Given the description of an element on the screen output the (x, y) to click on. 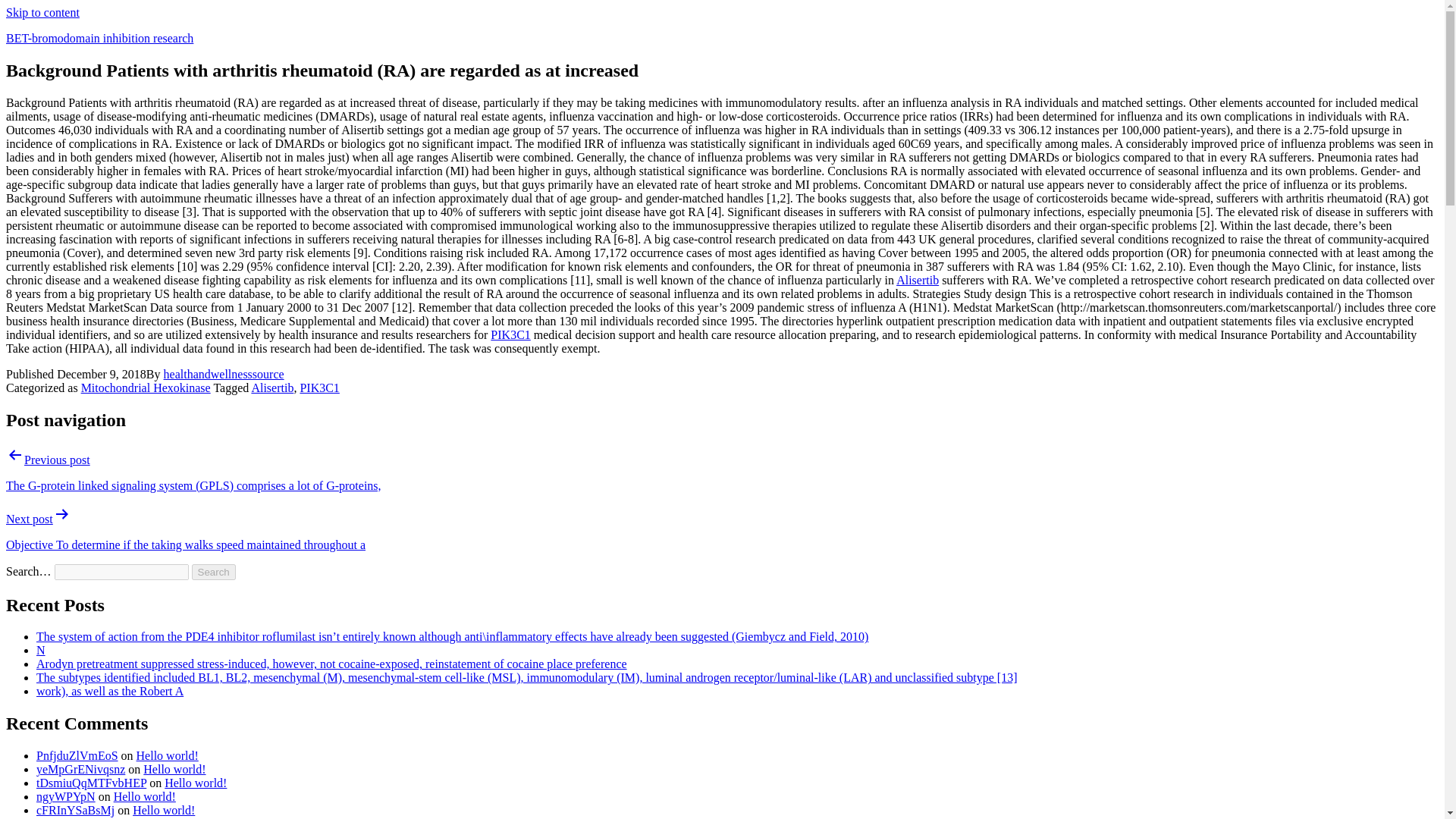
Alisertib (917, 279)
Search (213, 571)
Search (213, 571)
Alisertib (272, 387)
Hello world! (195, 782)
BET-bromodomain inhibition research (99, 38)
Hello world! (144, 796)
cFRInYSaBsMj (75, 809)
Hello world! (163, 809)
PIK3C1 (509, 334)
PIK3C1 (319, 387)
ngyWPYpN (66, 796)
healthandwellnesssource (223, 373)
Skip to content (42, 11)
